Given the description of an element on the screen output the (x, y) to click on. 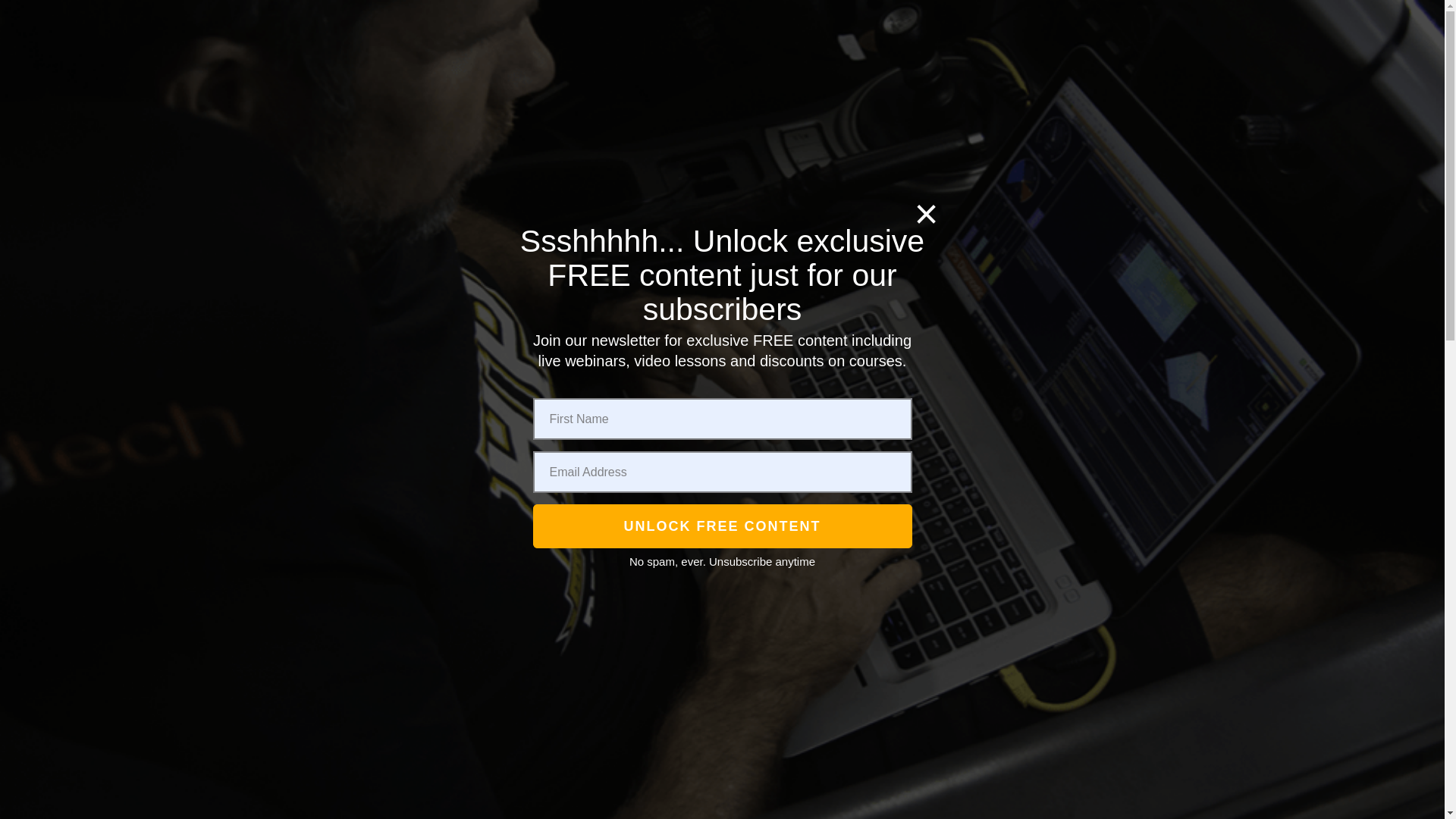
MEMBER LOGIN (1110, 163)
WEBINARS (893, 162)
CONTACT US (980, 81)
FORUM (963, 162)
Click here to view dswervin (354, 663)
Click here to view dswervin (355, 730)
ARTICLES (889, 81)
HIGH PERFORMANCE ACADEMY (527, 162)
PODCAST (359, 156)
